Given the description of an element on the screen output the (x, y) to click on. 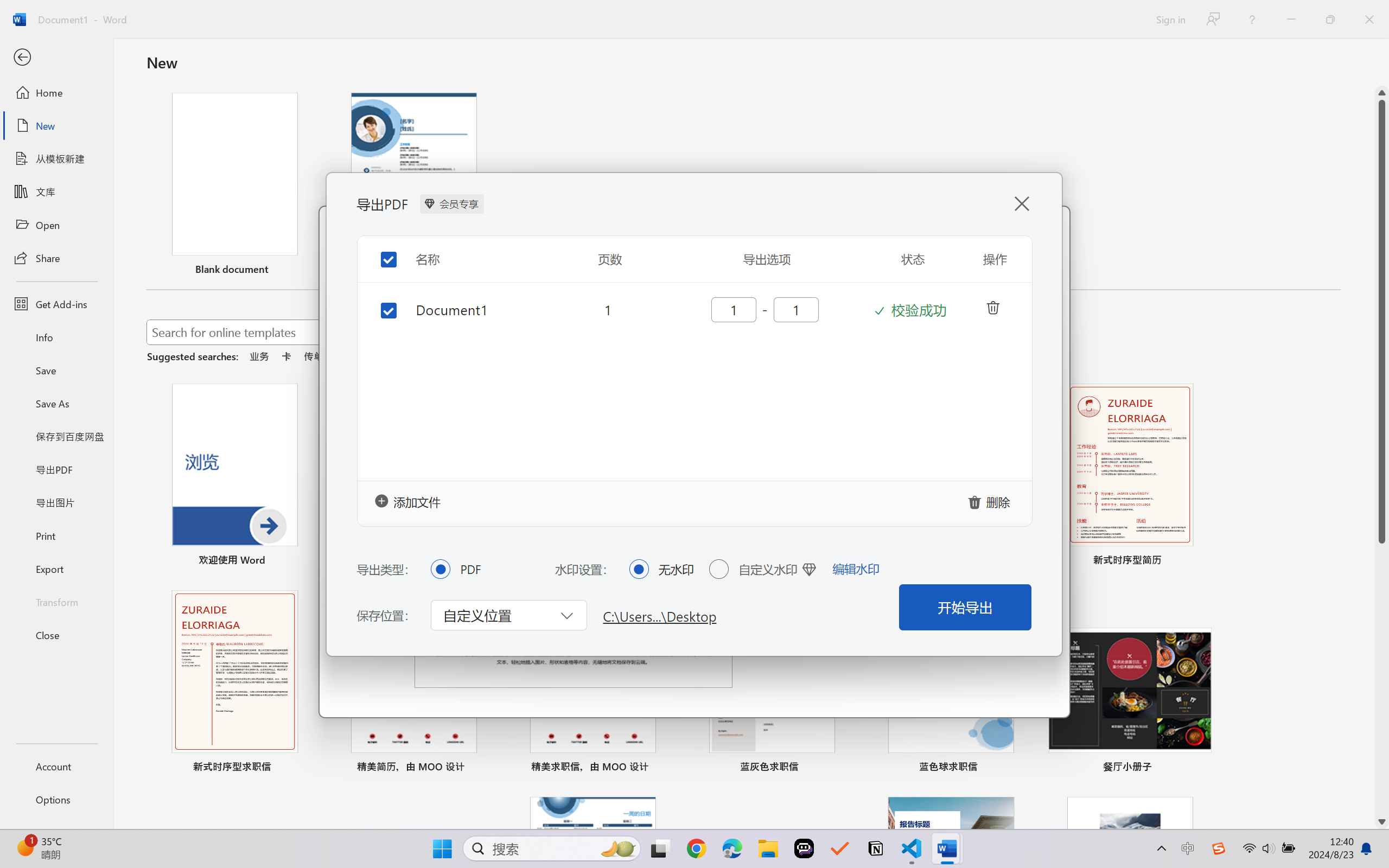
1 - 1 (764, 308)
Pin to list (1200, 767)
C:\Users...\Desktop (659, 615)
Get Add-ins (56, 303)
New (56, 125)
deleteColumn (992, 305)
